Given the description of an element on the screen output the (x, y) to click on. 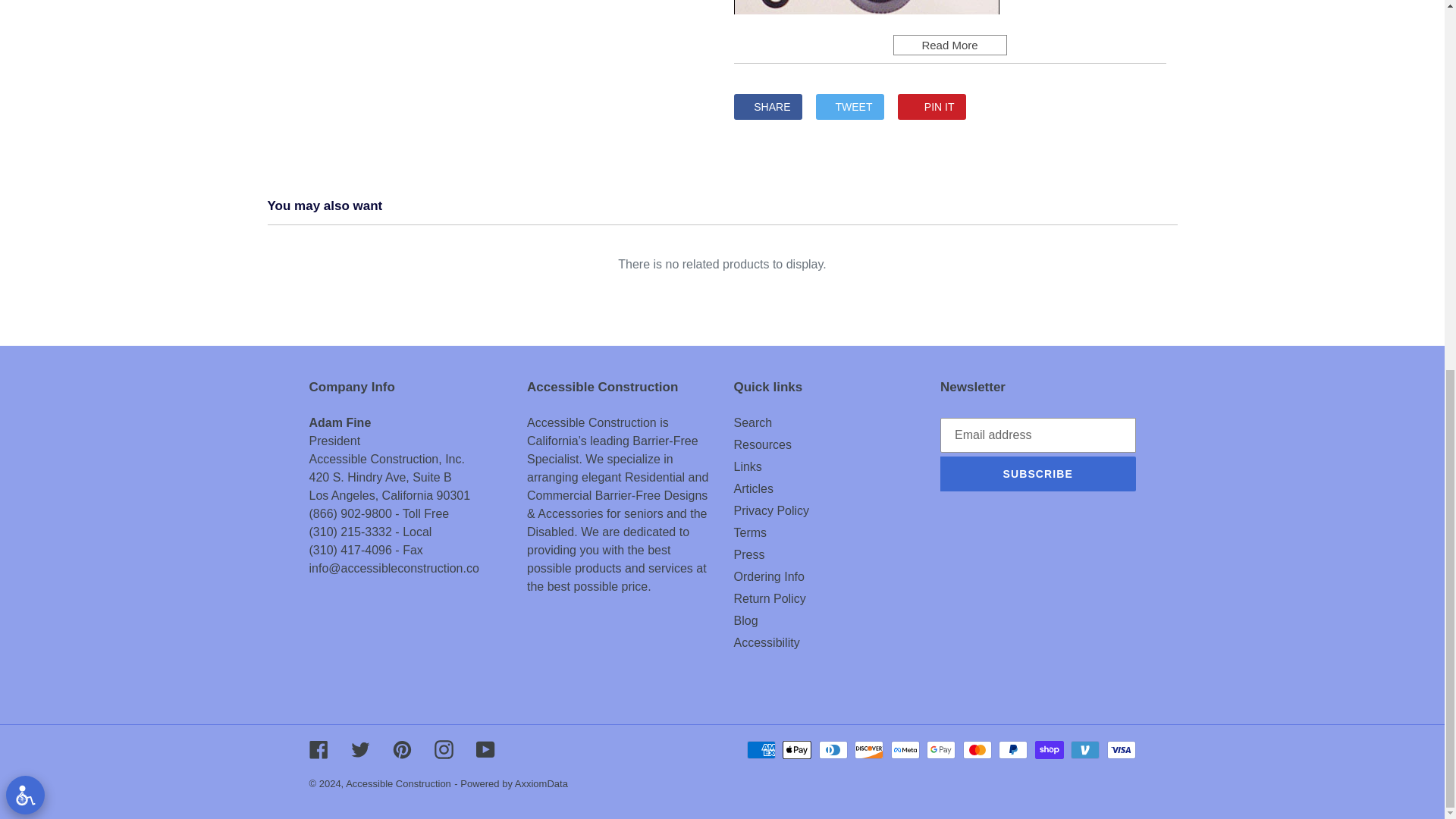
twitter (849, 106)
facebook (767, 106)
pinterest (932, 106)
